Given the description of an element on the screen output the (x, y) to click on. 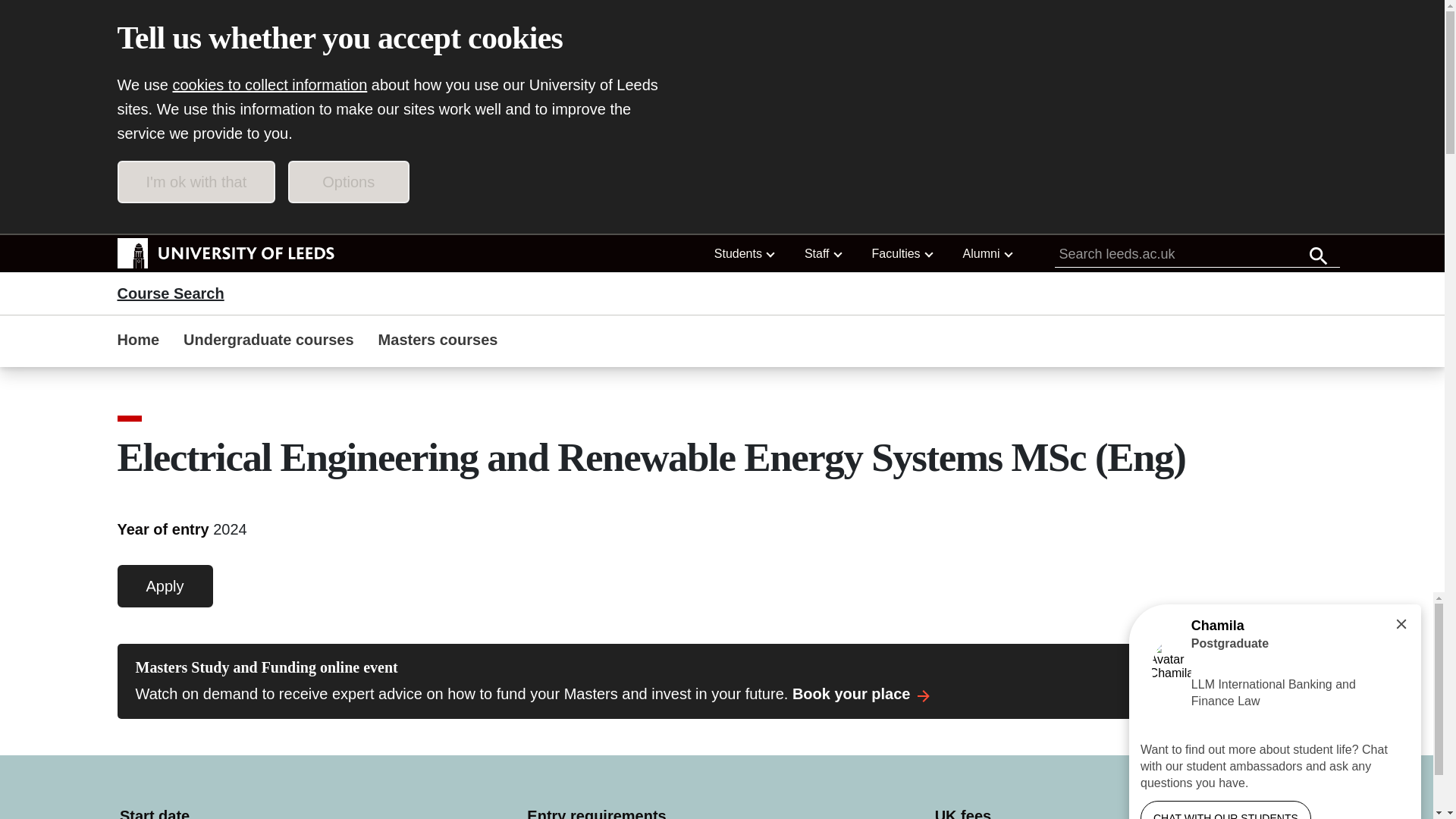
Students (743, 253)
Apply (164, 586)
Undergraduate courses (268, 341)
Masters courses (438, 341)
Course Search (170, 293)
Alumni (986, 253)
Home (137, 341)
Options (348, 181)
Faculties (902, 253)
I'm ok with that (195, 181)
Skip to main content (202, 216)
Staff (822, 253)
cookies to collect information (270, 84)
Book your place (864, 693)
